Given the description of an element on the screen output the (x, y) to click on. 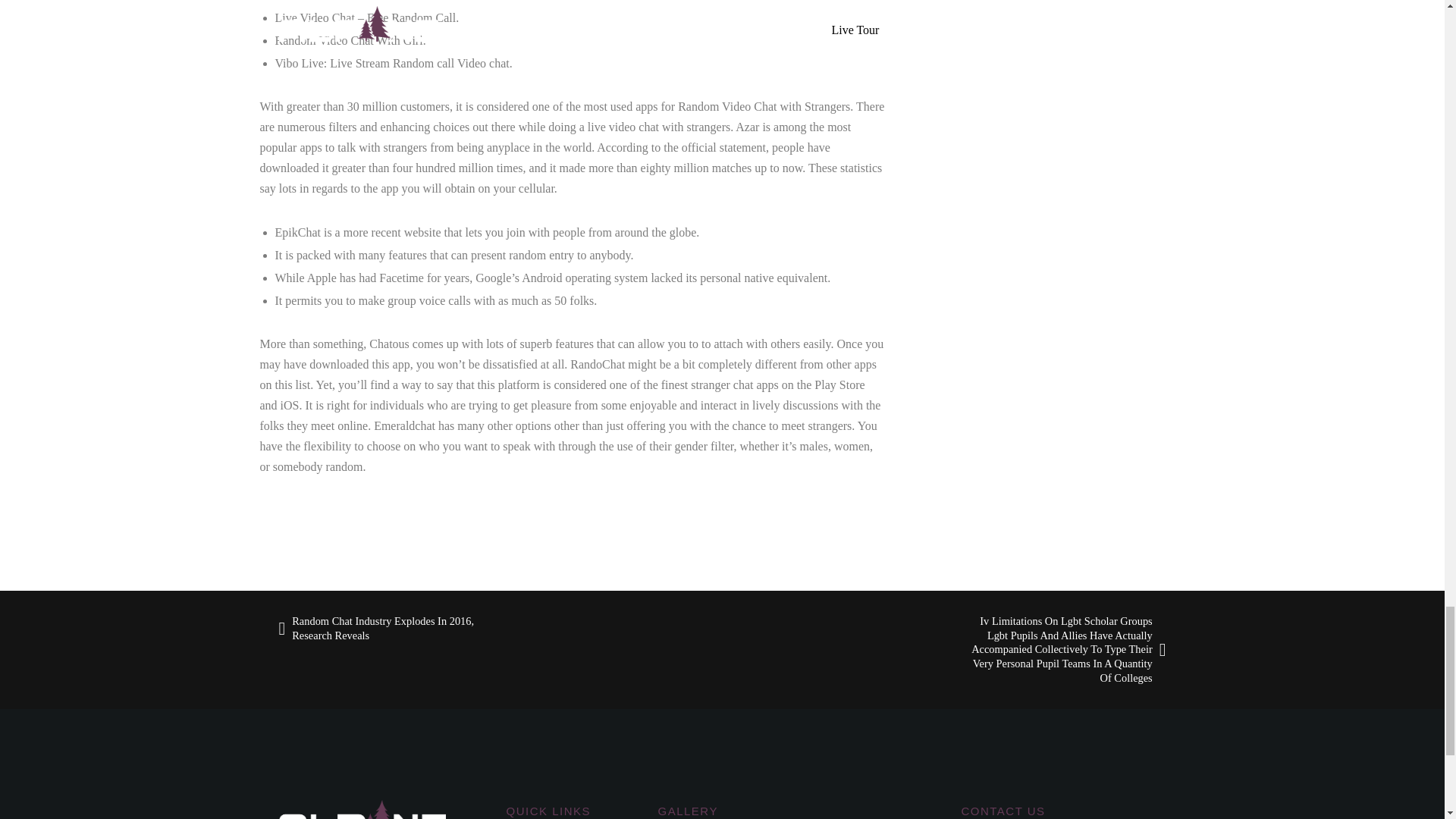
Random Chat Industry Explodes In 2016, Research Reveals (389, 628)
